Given the description of an element on the screen output the (x, y) to click on. 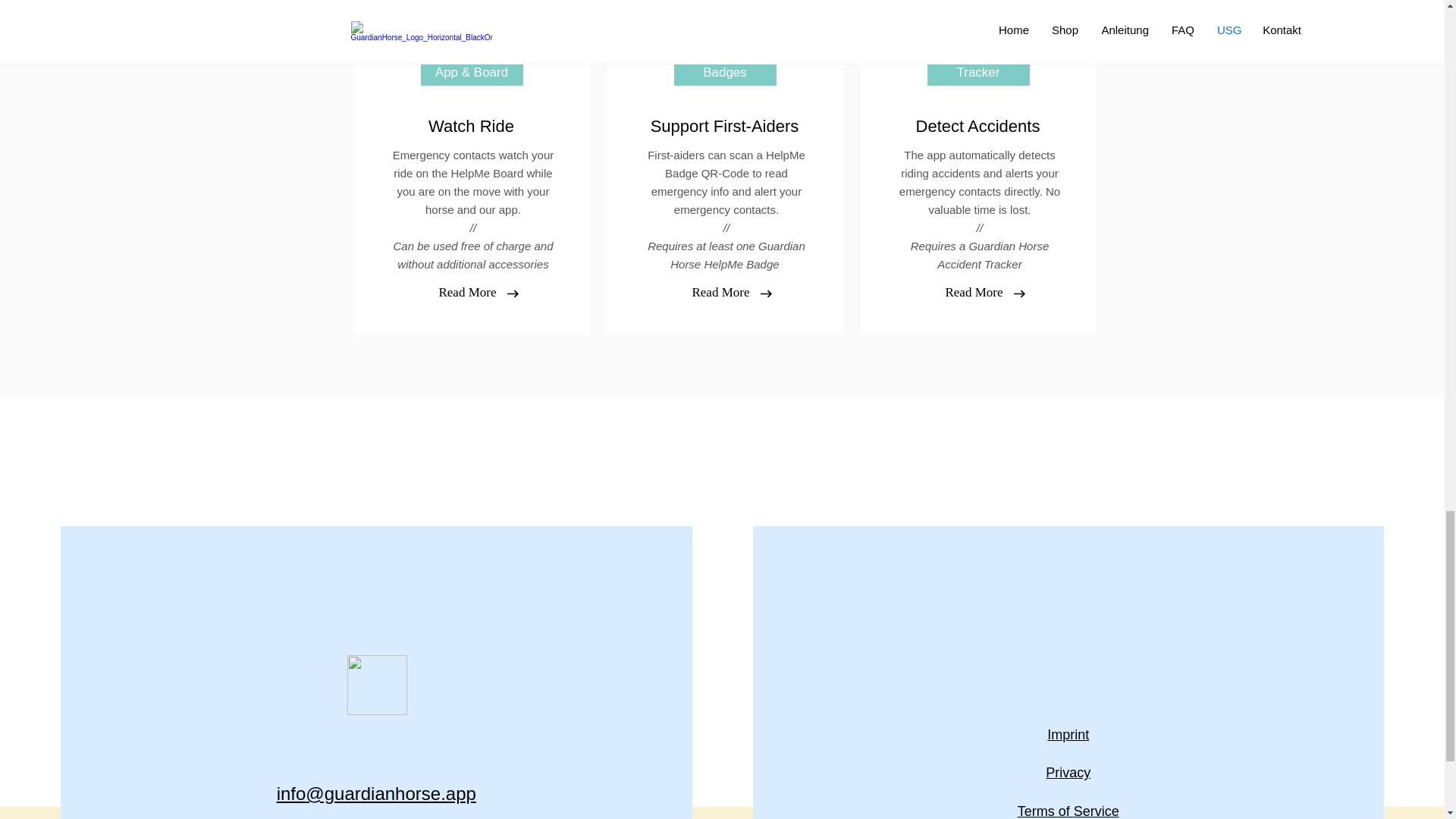
Read More (721, 292)
Read More (974, 292)
Imprint (1067, 734)
Terms of Service (1068, 811)
Privacy (1067, 772)
Badges (724, 72)
Tracker (977, 72)
Read More (467, 292)
